Given the description of an element on the screen output the (x, y) to click on. 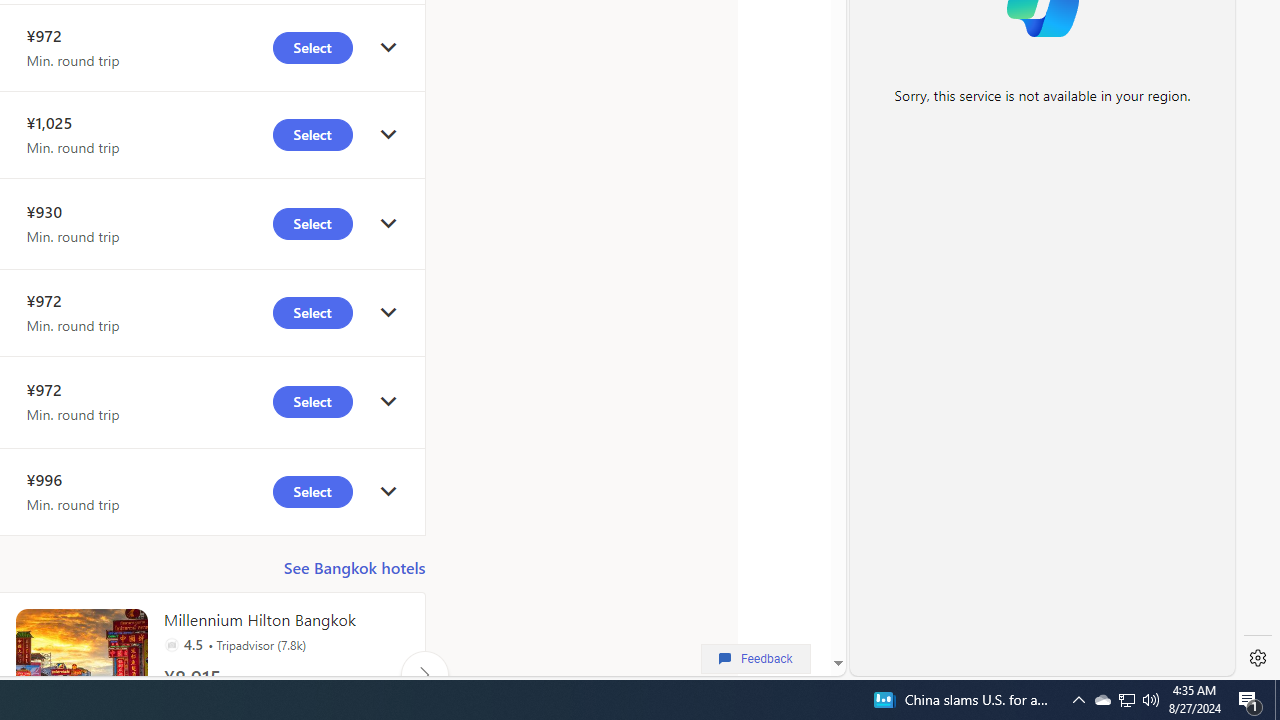
Tripadvisor (171, 644)
click to get details (388, 491)
Click to scroll right (424, 674)
